Given the description of an element on the screen output the (x, y) to click on. 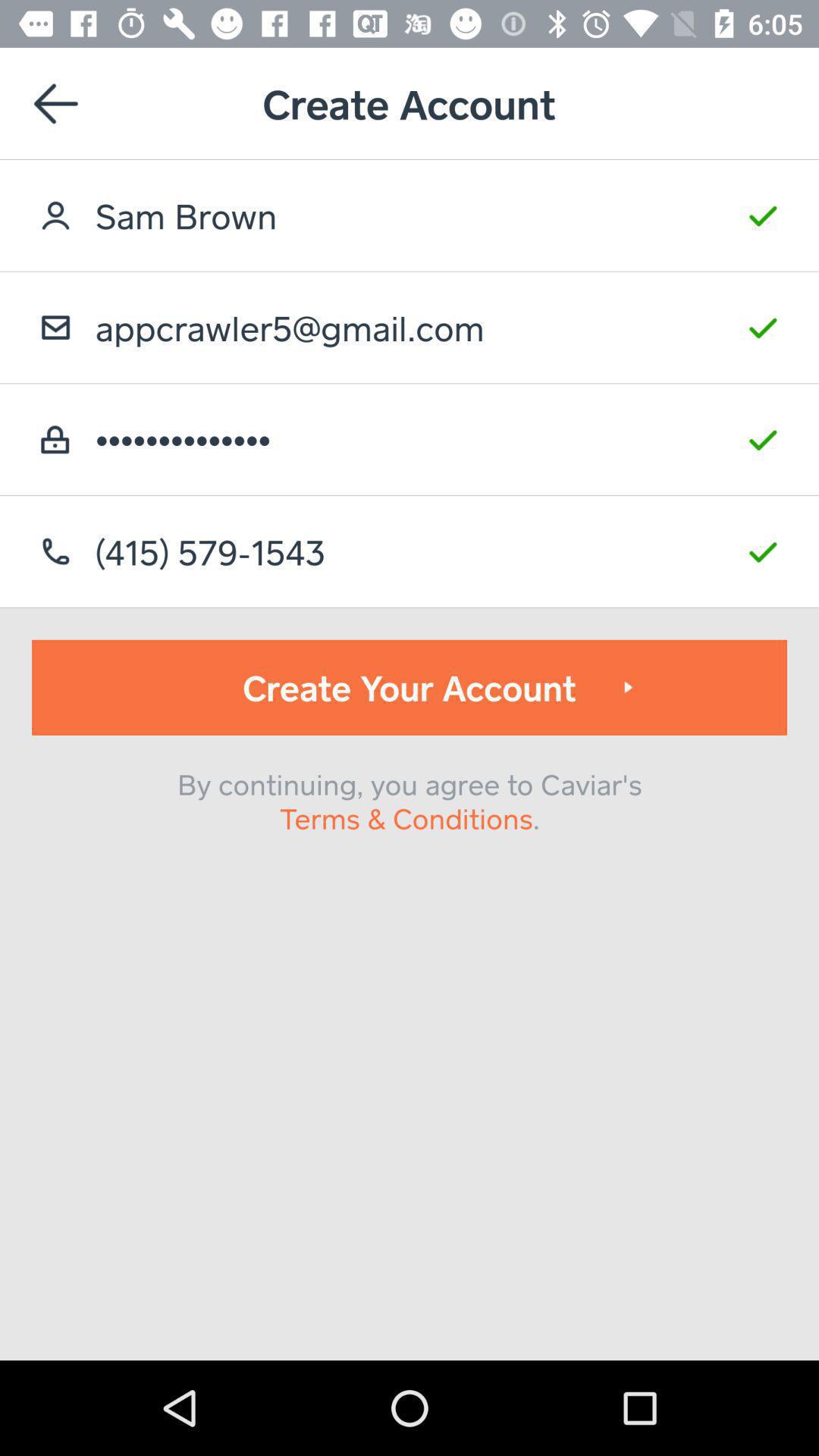
return to previous page (55, 103)
